Given the description of an element on the screen output the (x, y) to click on. 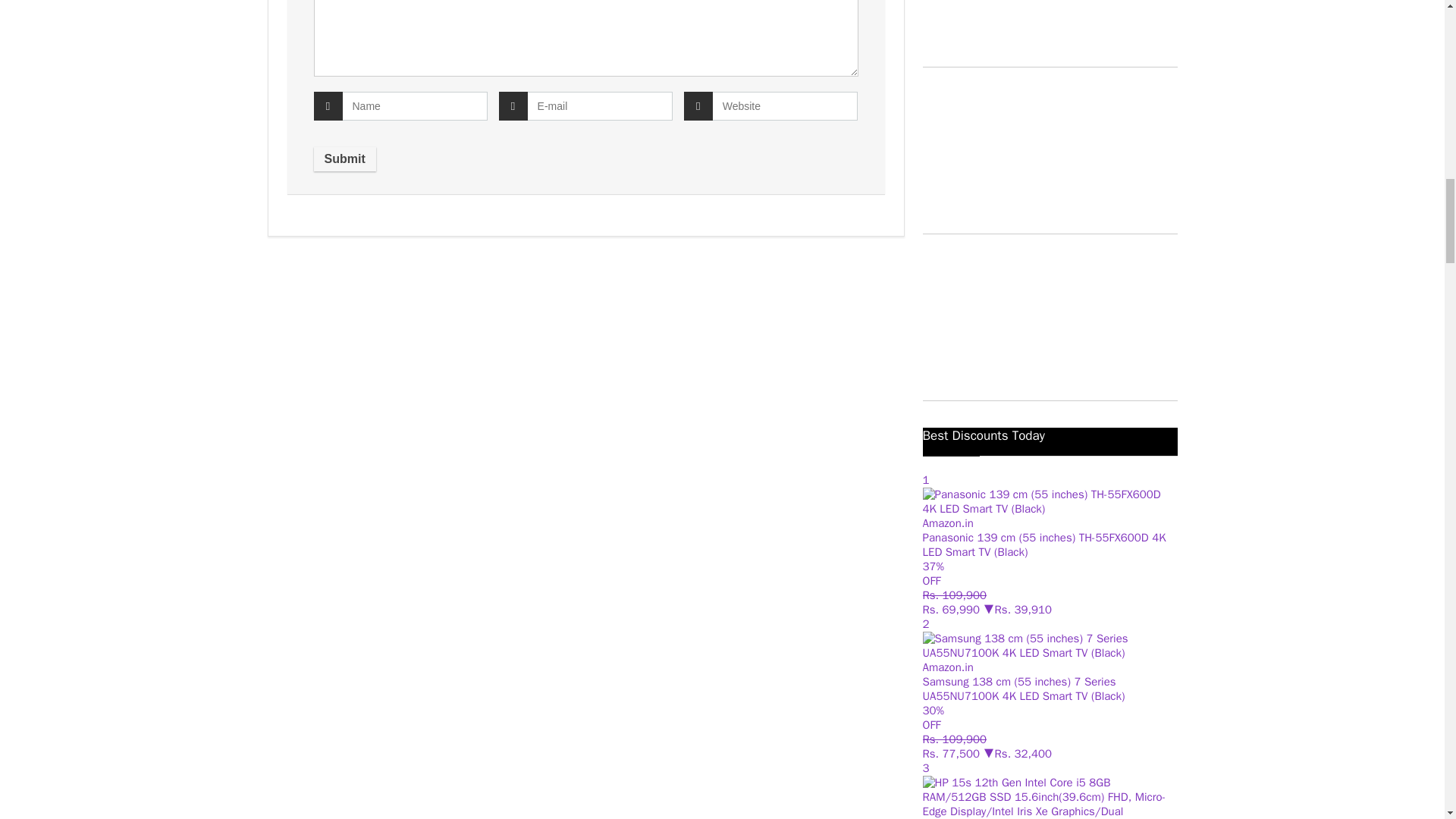
7 days ago (954, 594)
Submit (344, 159)
6 days ago (954, 739)
as of July 31, 2024 7:35 pm (950, 753)
as of July 31, 2024 4:36 pm (950, 609)
